Given the description of an element on the screen output the (x, y) to click on. 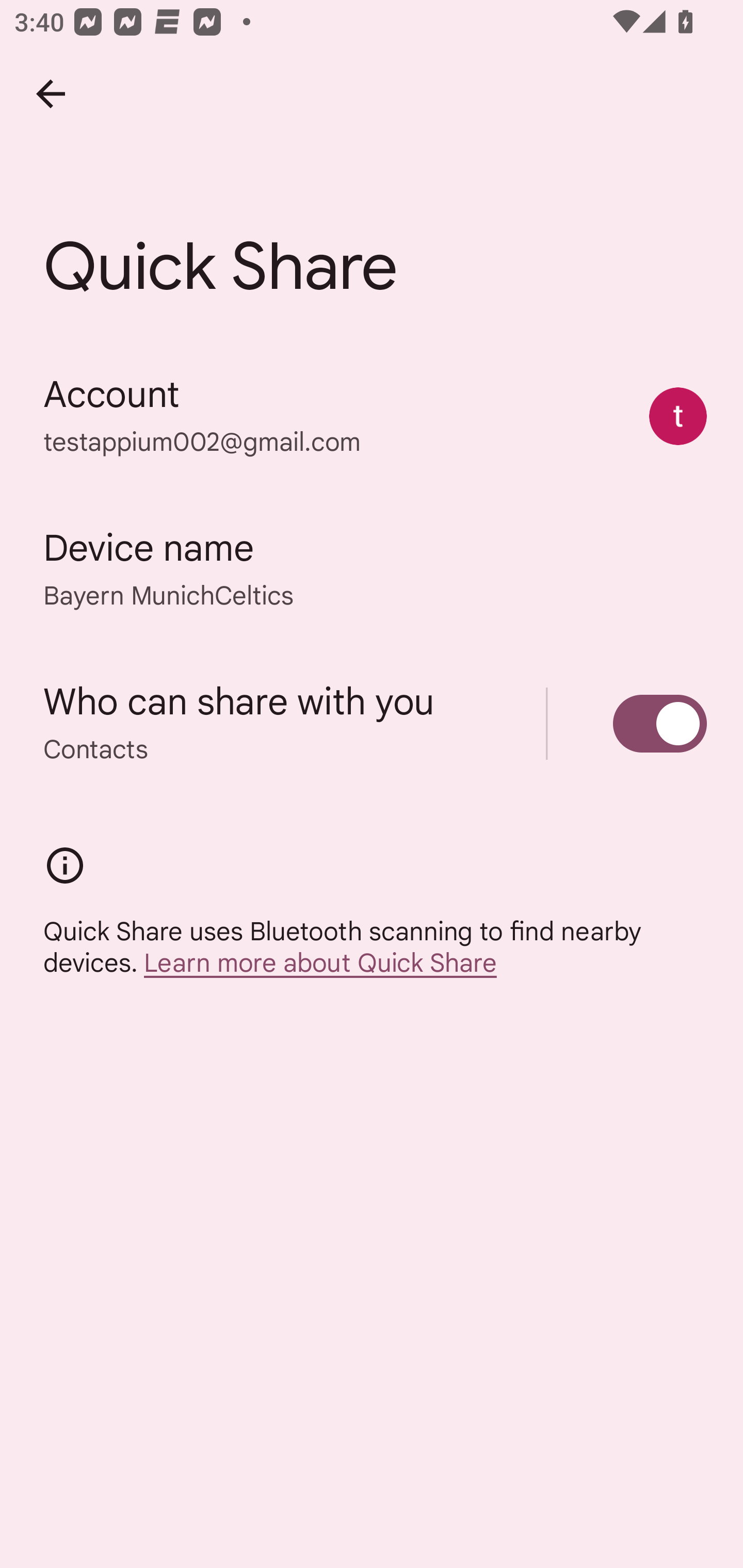
Back (50, 93)
Account testappium002@gmail.com (371, 415)
Device name Bayern MunichCeltics (371, 569)
Who can share with you Contacts (371, 723)
